Given the description of an element on the screen output the (x, y) to click on. 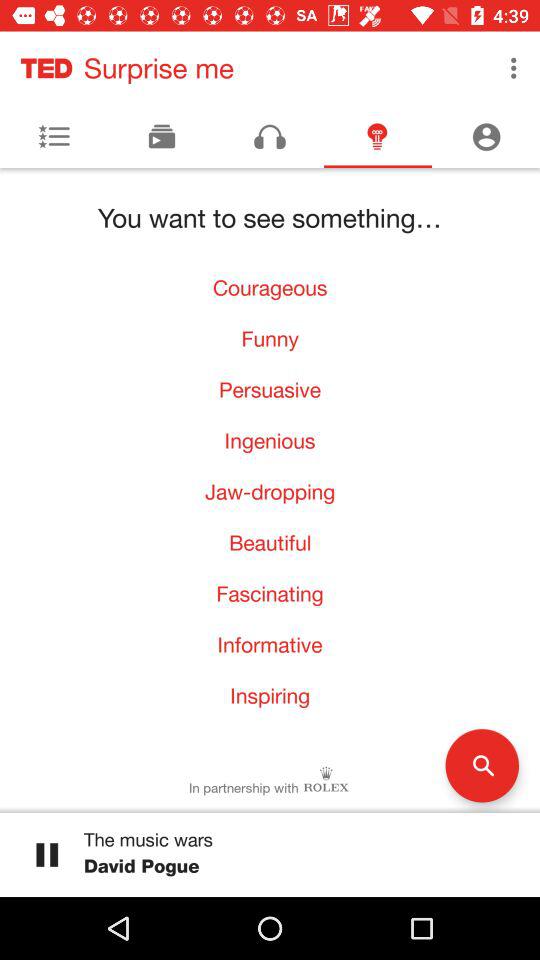
turn on the item above beautiful item (270, 491)
